Given the description of an element on the screen output the (x, y) to click on. 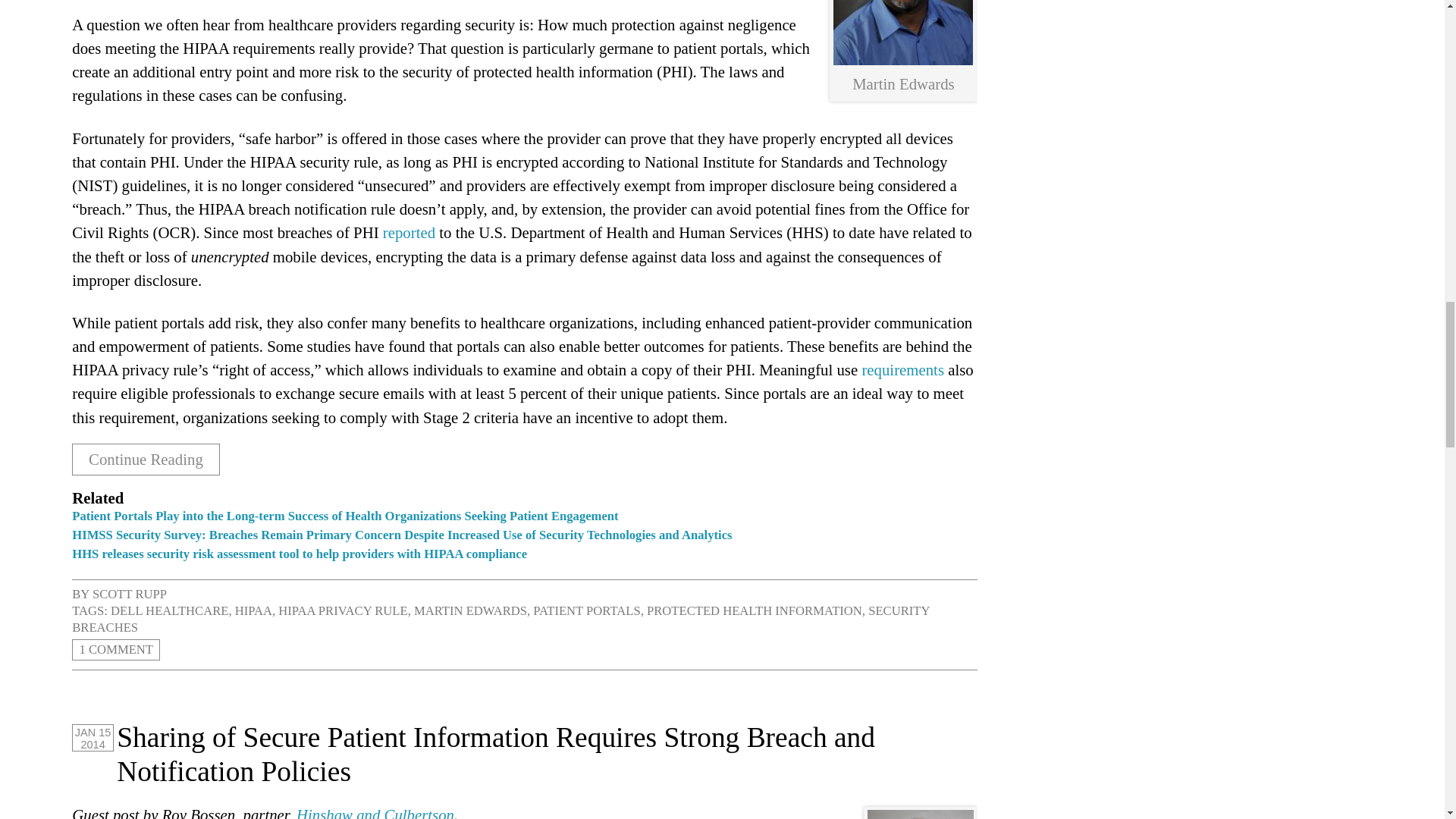
SCOTT RUPP (130, 594)
January 15, 2014 5:03 pm (92, 737)
PATIENT PORTALS (586, 610)
requirements (902, 369)
reported (408, 231)
HIPAA PRIVACY RULE (342, 610)
HIPAA (253, 610)
Continue Reading (145, 459)
DELL HEALTHCARE (169, 610)
